Given the description of an element on the screen output the (x, y) to click on. 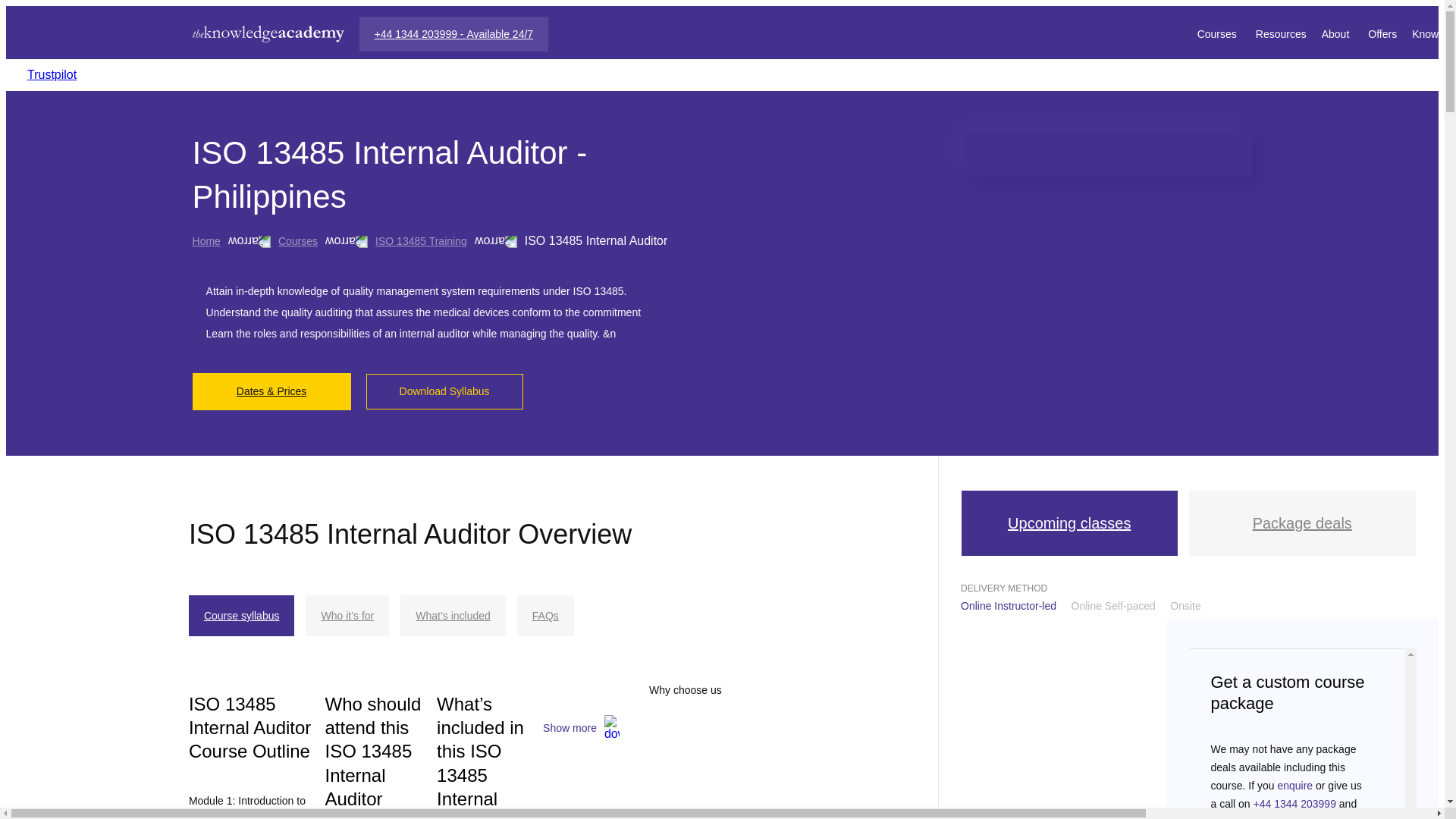
Offers (1382, 33)
Resources (1280, 33)
FAQs (544, 615)
Home (206, 241)
Course syllabus (242, 615)
Courses (1218, 33)
Download Syllabus (444, 391)
KnowledgePass (1434, 33)
About (1338, 33)
